Given the description of an element on the screen output the (x, y) to click on. 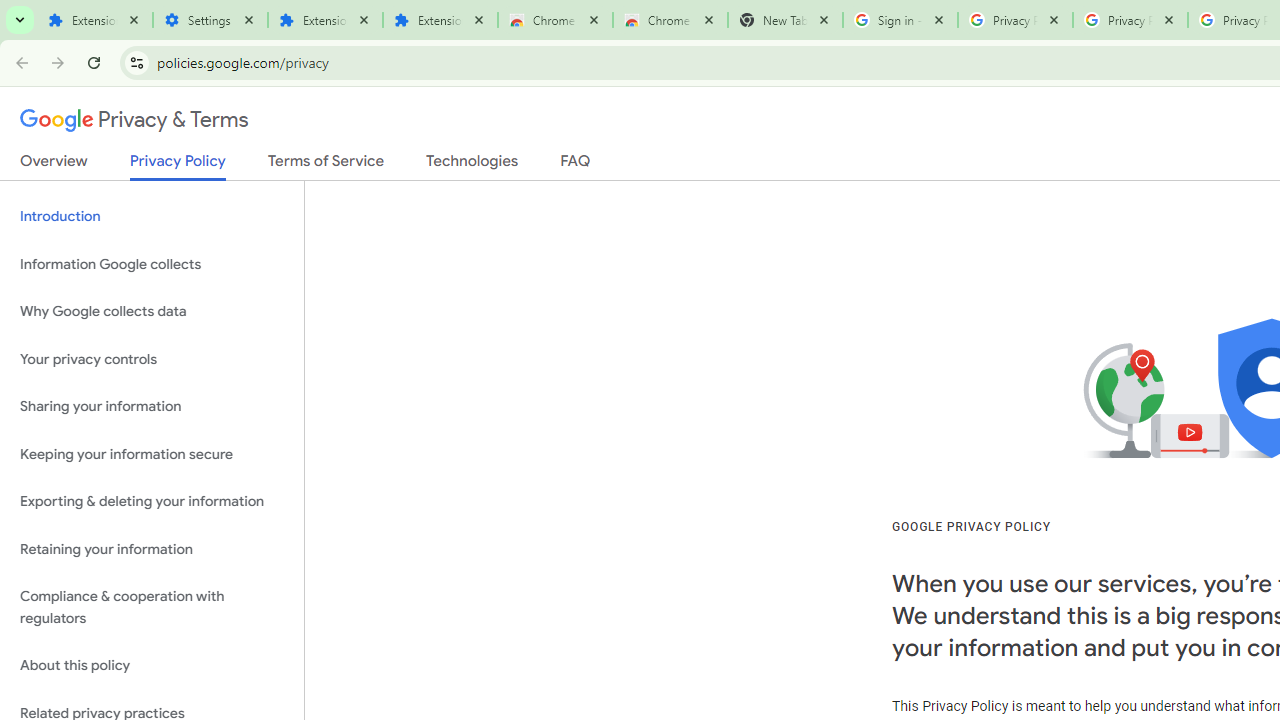
Extensions (439, 20)
Extensions (324, 20)
Information Google collects (152, 263)
Why Google collects data (152, 312)
Exporting & deleting your information (152, 502)
Keeping your information secure (152, 453)
Extensions (95, 20)
Compliance & cooperation with regulators (152, 607)
Retaining your information (152, 548)
New Tab (785, 20)
Privacy Policy (177, 166)
